Given the description of an element on the screen output the (x, y) to click on. 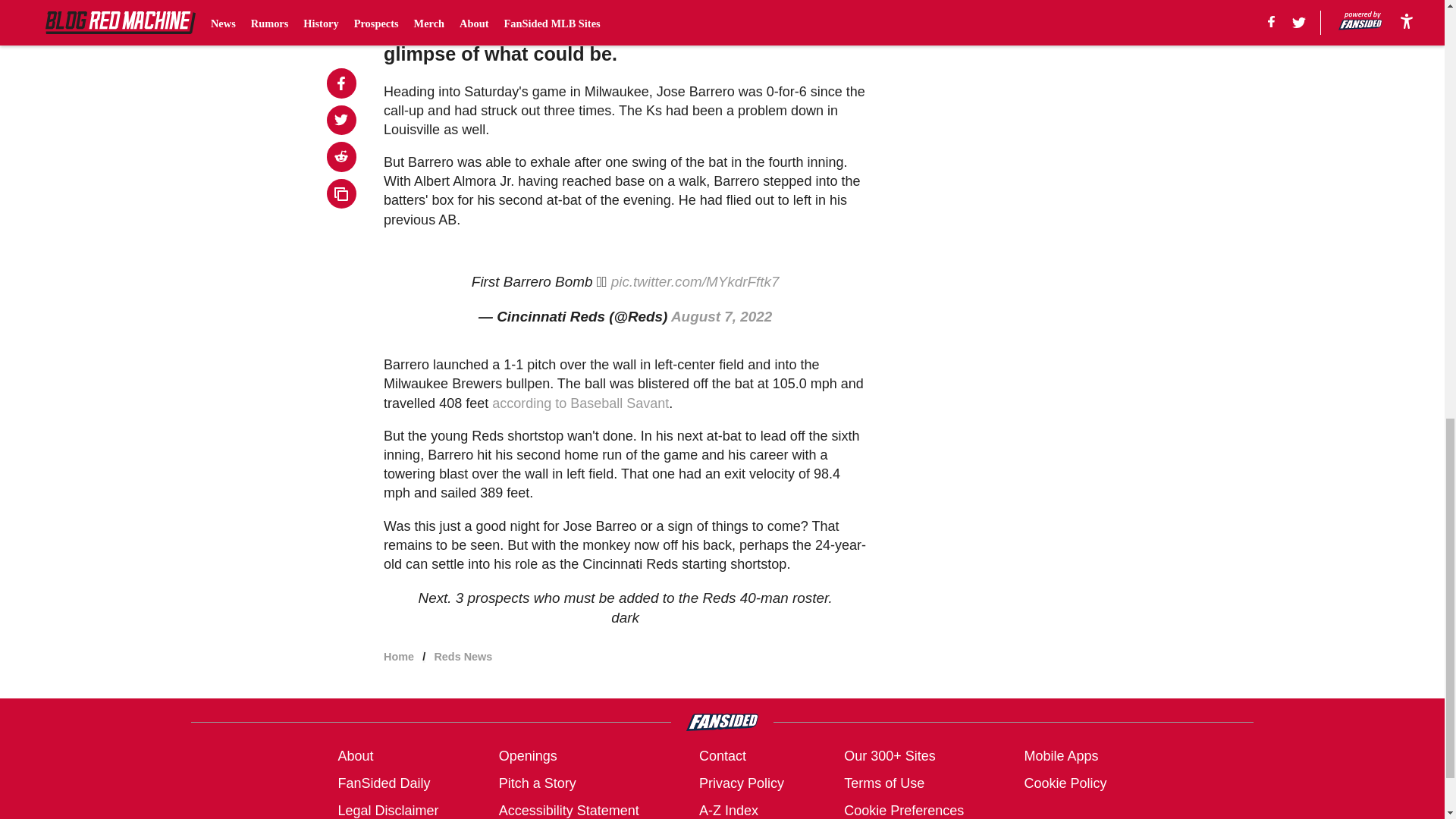
Reds News (462, 656)
according to Baseball Savant (580, 403)
About (354, 755)
Mobile Apps (1060, 755)
August 7, 2022 (721, 316)
Home (398, 656)
Contact (721, 755)
Openings (528, 755)
